Given the description of an element on the screen output the (x, y) to click on. 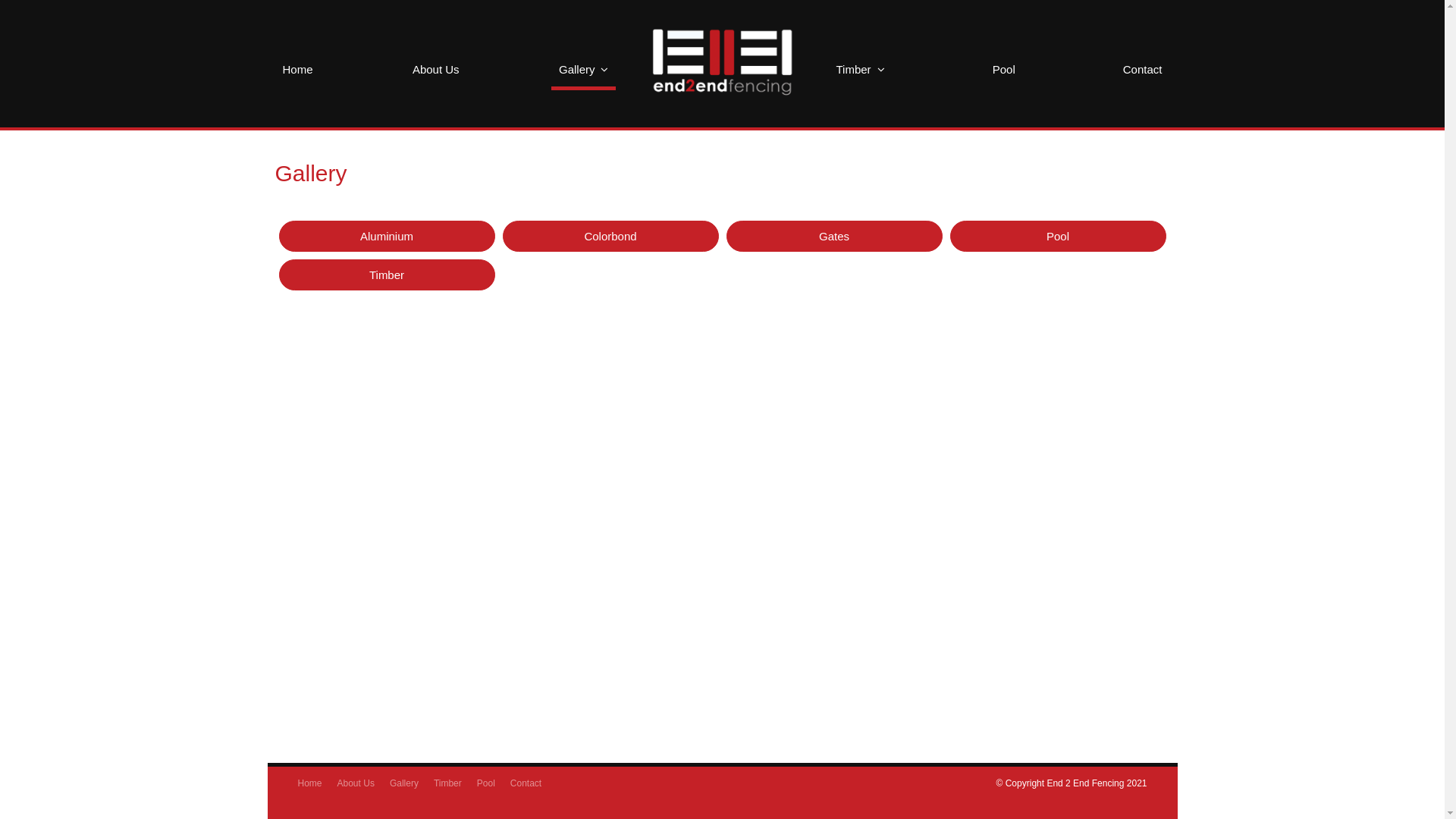
Pool Element type: text (1057, 235)
Home Element type: text (309, 783)
Contact Element type: text (525, 783)
Pool Element type: text (485, 783)
Pool Element type: text (1003, 69)
Aluminium Element type: text (387, 235)
Gallery Element type: text (404, 783)
Gallery Element type: text (583, 71)
Contact Element type: text (1142, 69)
About Us Element type: text (355, 783)
Gates Element type: text (834, 235)
Timber Element type: text (387, 274)
Home Element type: text (297, 69)
About Us Element type: text (435, 69)
Colorbond Element type: text (610, 235)
Timber Element type: text (447, 783)
Timber Element type: text (859, 69)
